Given the description of an element on the screen output the (x, y) to click on. 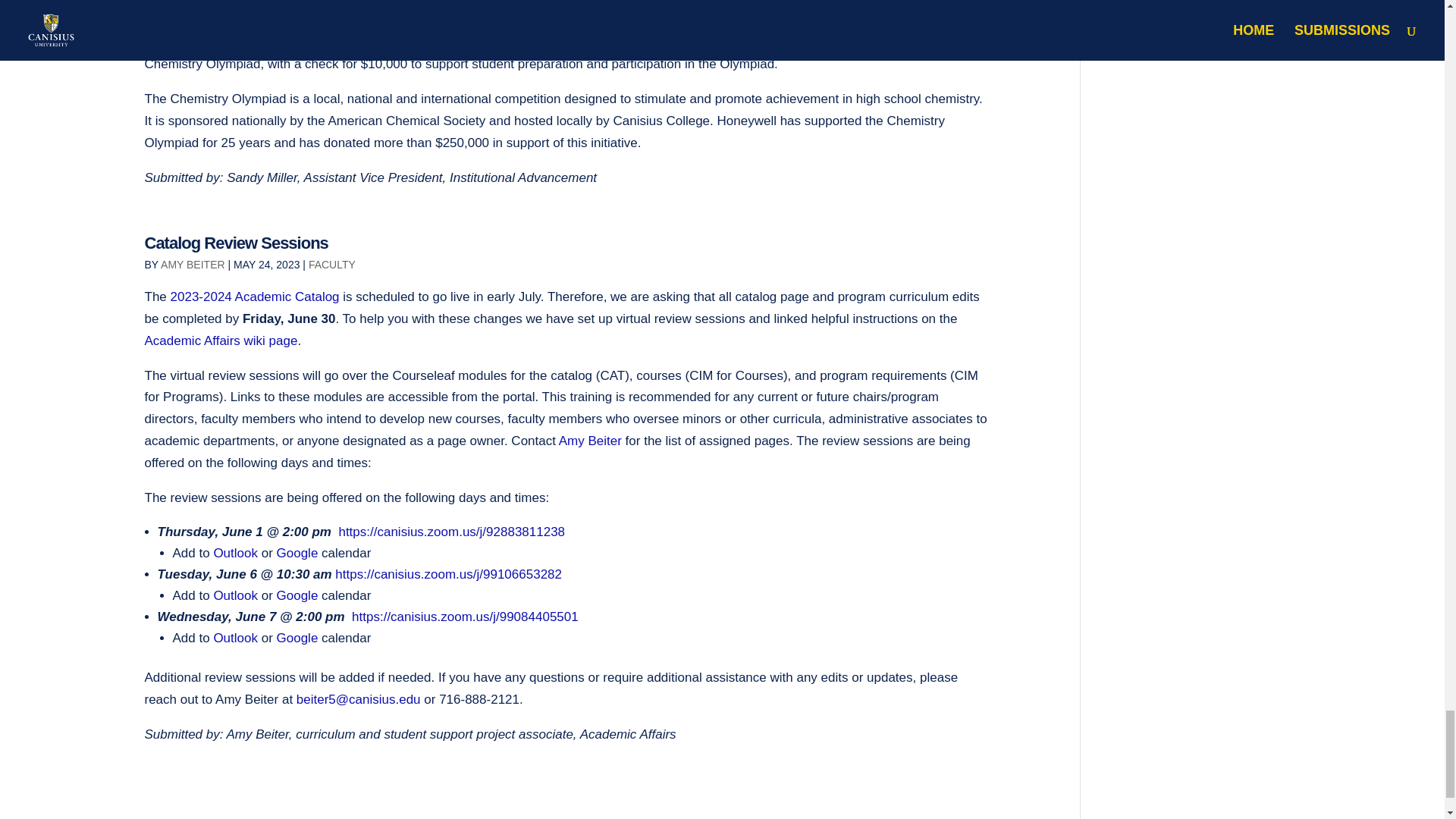
Catalog Review Sessions (235, 242)
Amy Beiter  (592, 440)
Outlook (234, 553)
Academic Affairs wiki page (220, 340)
AMY BEITER (192, 263)
FACULTY (331, 263)
2023-2024 Academic Catalog (254, 296)
Posts by Amy Beiter (192, 263)
